Given the description of an element on the screen output the (x, y) to click on. 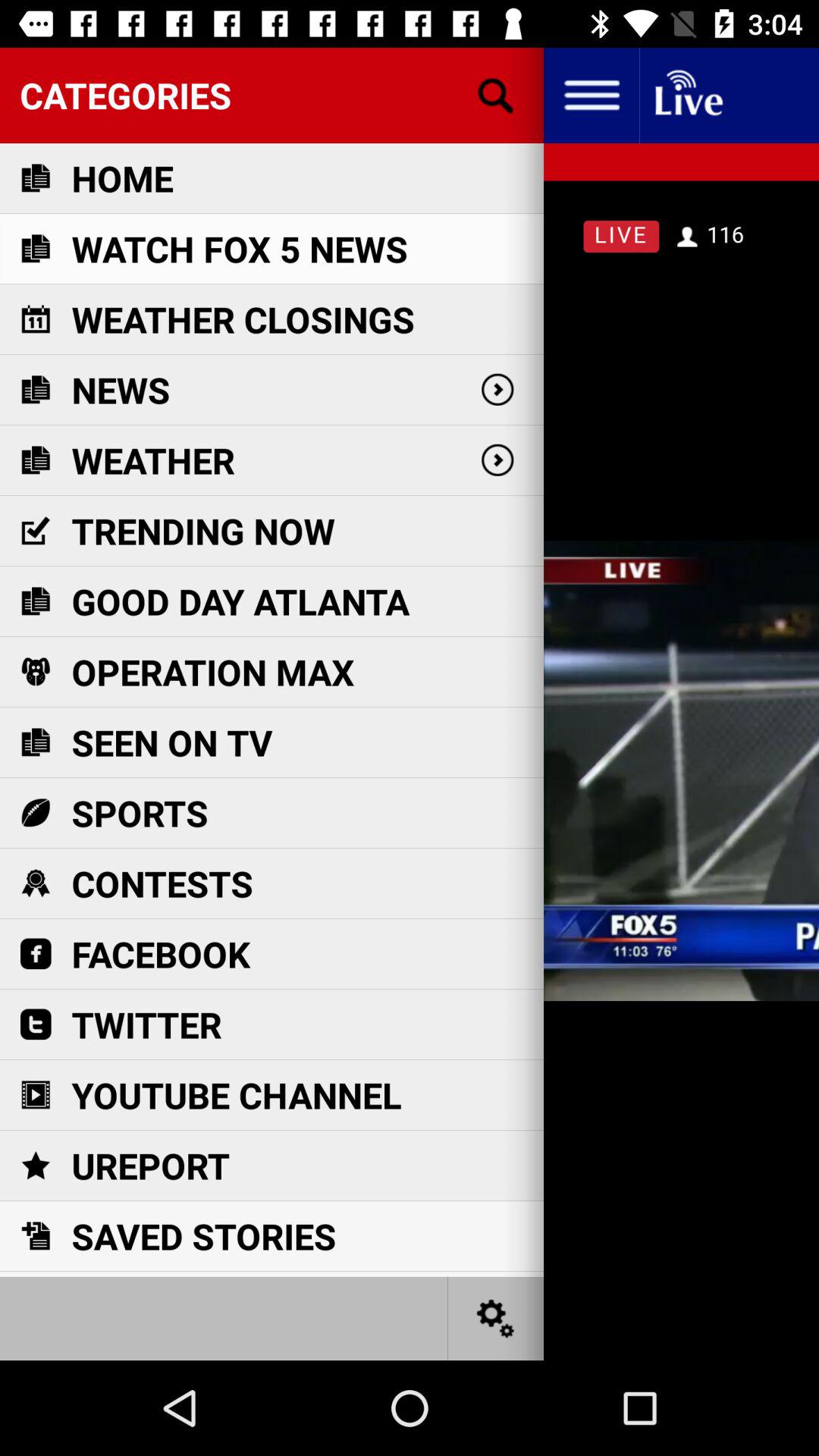
go to settings (495, 1318)
